Given the description of an element on the screen output the (x, y) to click on. 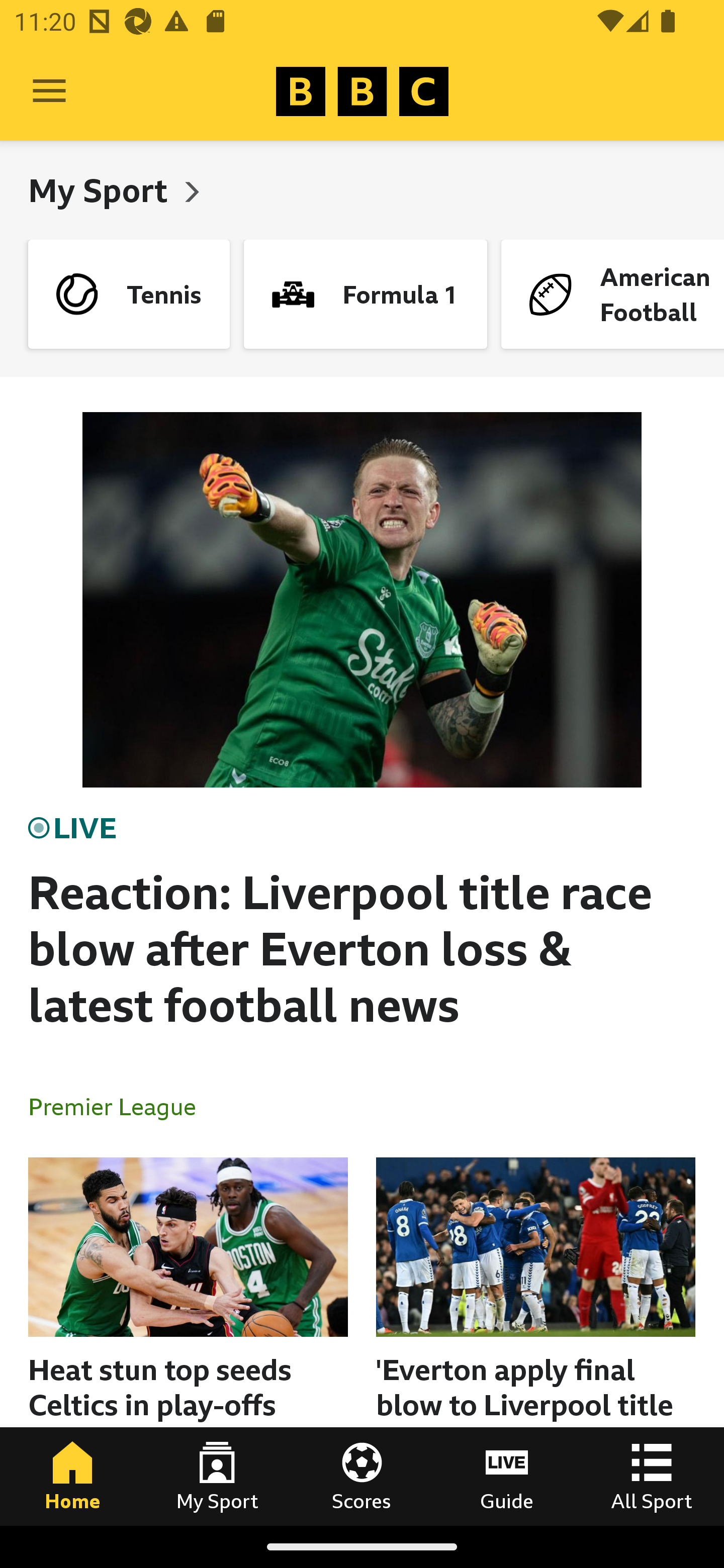
Open Menu (49, 91)
My Sport (101, 190)
Premier League In the section Premier League (119, 1106)
My Sport (216, 1475)
Scores (361, 1475)
Guide (506, 1475)
All Sport (651, 1475)
